Given the description of an element on the screen output the (x, y) to click on. 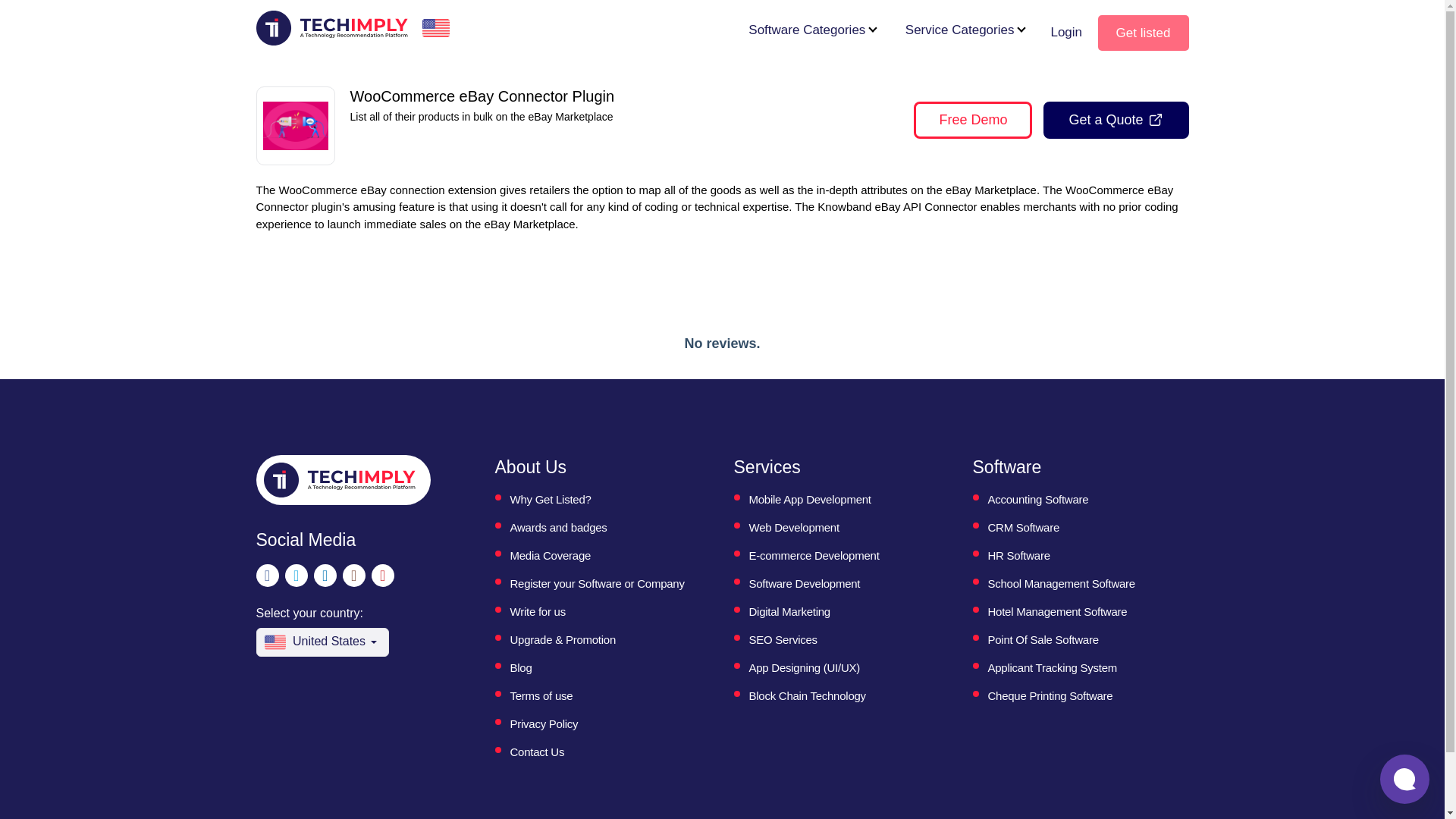
Join us on Linked in (325, 575)
Follow on Pinterest (382, 575)
Login (1065, 32)
Like on Facebook (267, 575)
Follow on Twitter (296, 575)
Techimply (331, 27)
Follow on Instagram (353, 575)
Techimply (338, 479)
Software Categories (806, 29)
Get listed (1143, 32)
WooCommerce eBay Connector Plugin (294, 126)
